Given the description of an element on the screen output the (x, y) to click on. 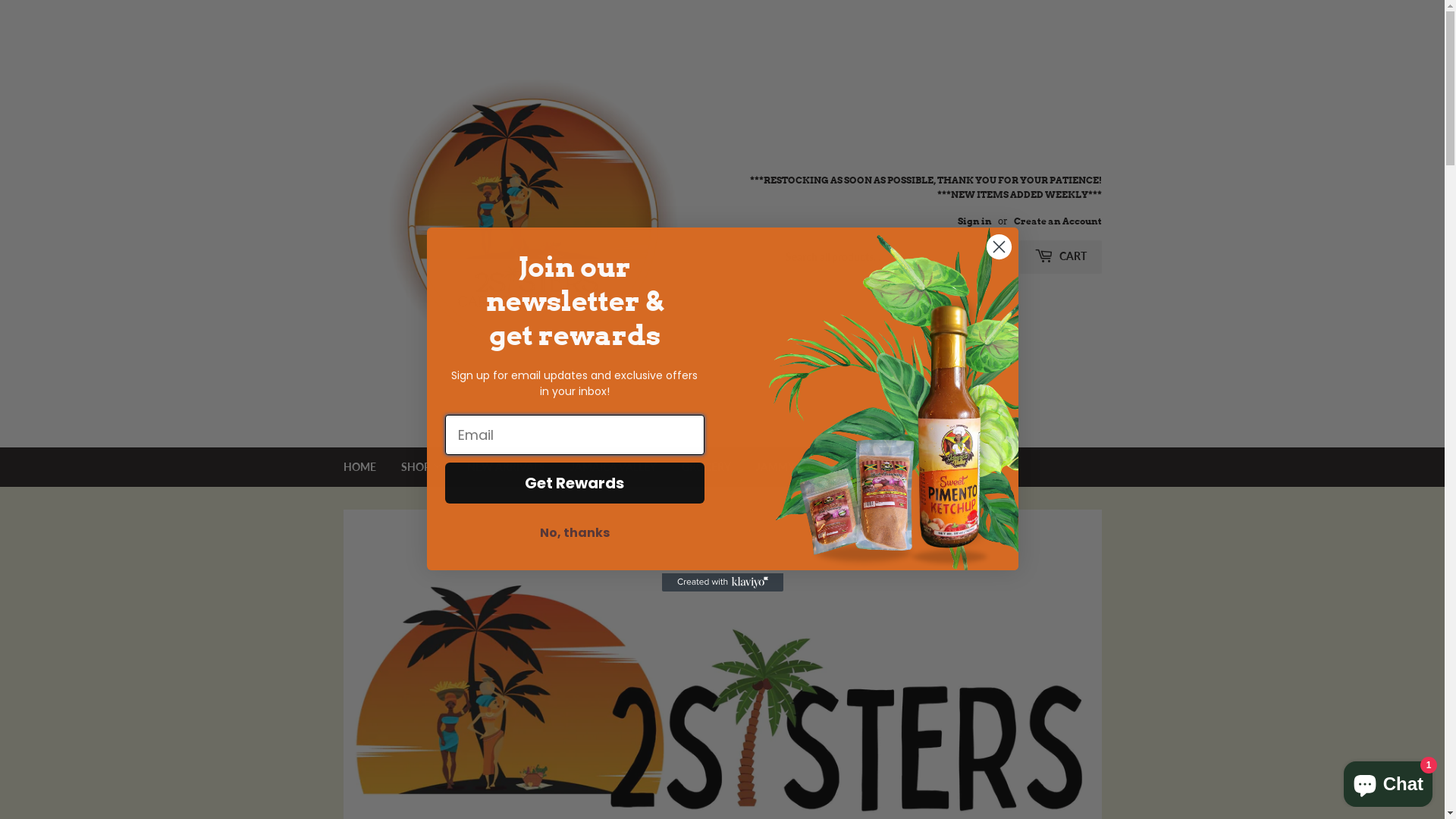
HOME Element type: text (359, 466)
No, thanks Element type: text (573, 532)
Shopify online store chat Element type: hover (1388, 780)
JAMAICA VALLEY Element type: text (612, 466)
Sign in Element type: text (974, 221)
Submit Element type: text (35, 14)
ABOUT US Element type: text (893, 466)
JAMMY'S TREATS Element type: text (799, 466)
Search Element type: text (987, 257)
NEW ARRIVALS Element type: text (505, 466)
SHOP Element type: text (421, 466)
Create an Account Element type: text (1057, 221)
Get Rewards Element type: text (573, 482)
CART Element type: text (1060, 256)
GROCERY Element type: text (706, 466)
